Given the description of an element on the screen output the (x, y) to click on. 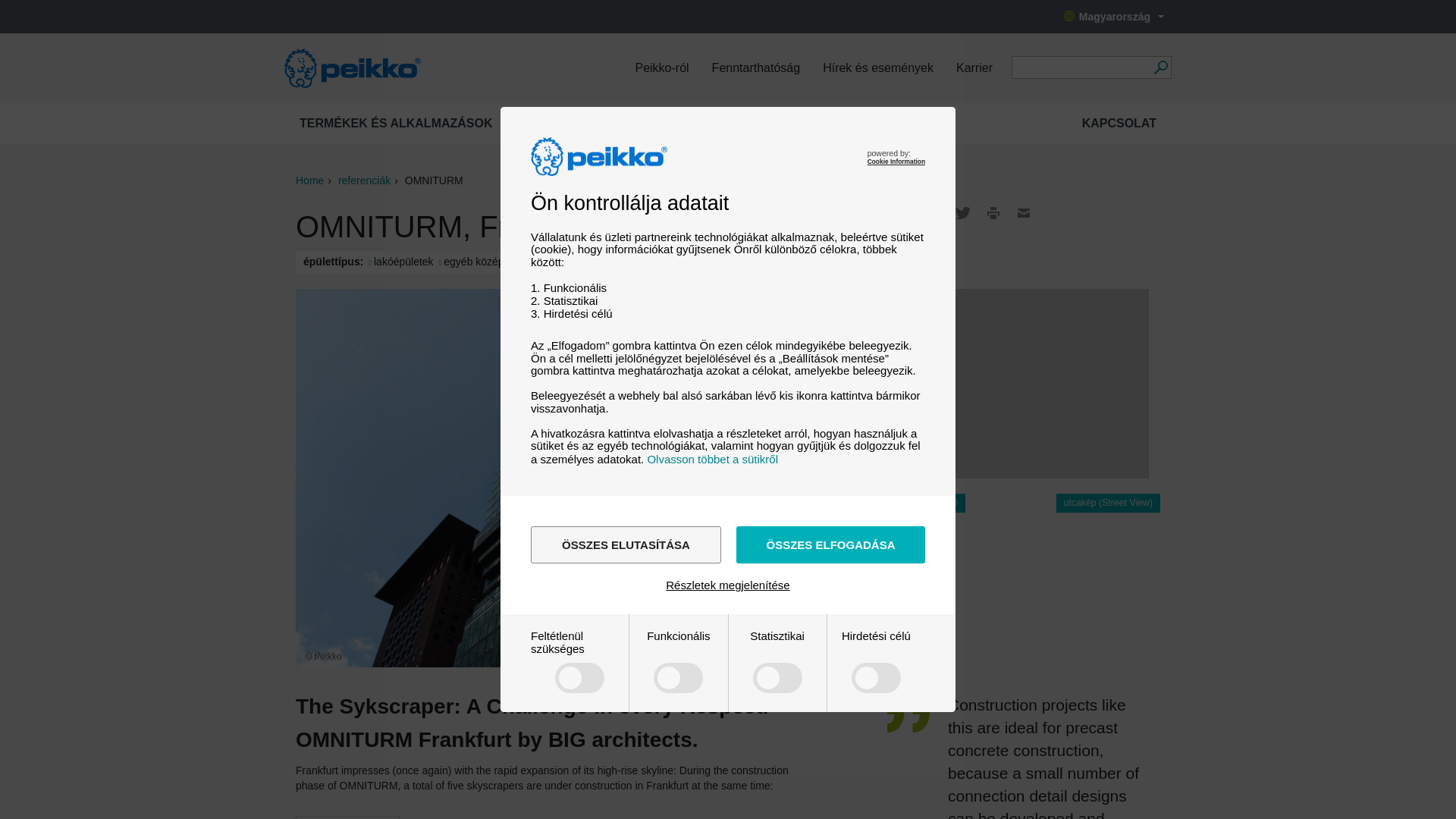
Email link (1023, 212)
Cookie Information (895, 161)
